Given the description of an element on the screen output the (x, y) to click on. 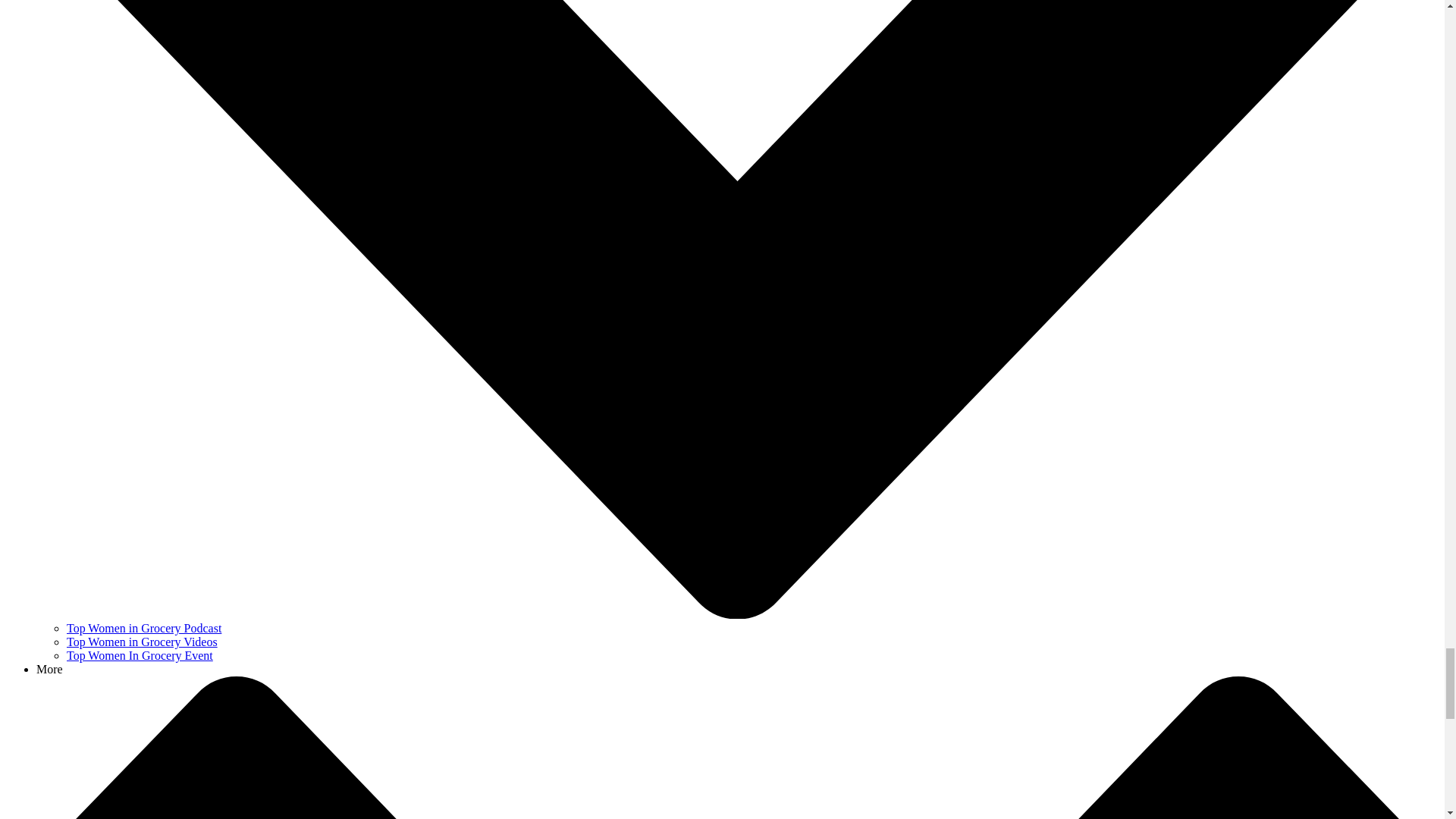
Top Women In Grocery Event (139, 655)
More (49, 668)
Top Women in Grocery Videos (141, 641)
Top Women in Grocery Podcast (143, 627)
